Given the description of an element on the screen output the (x, y) to click on. 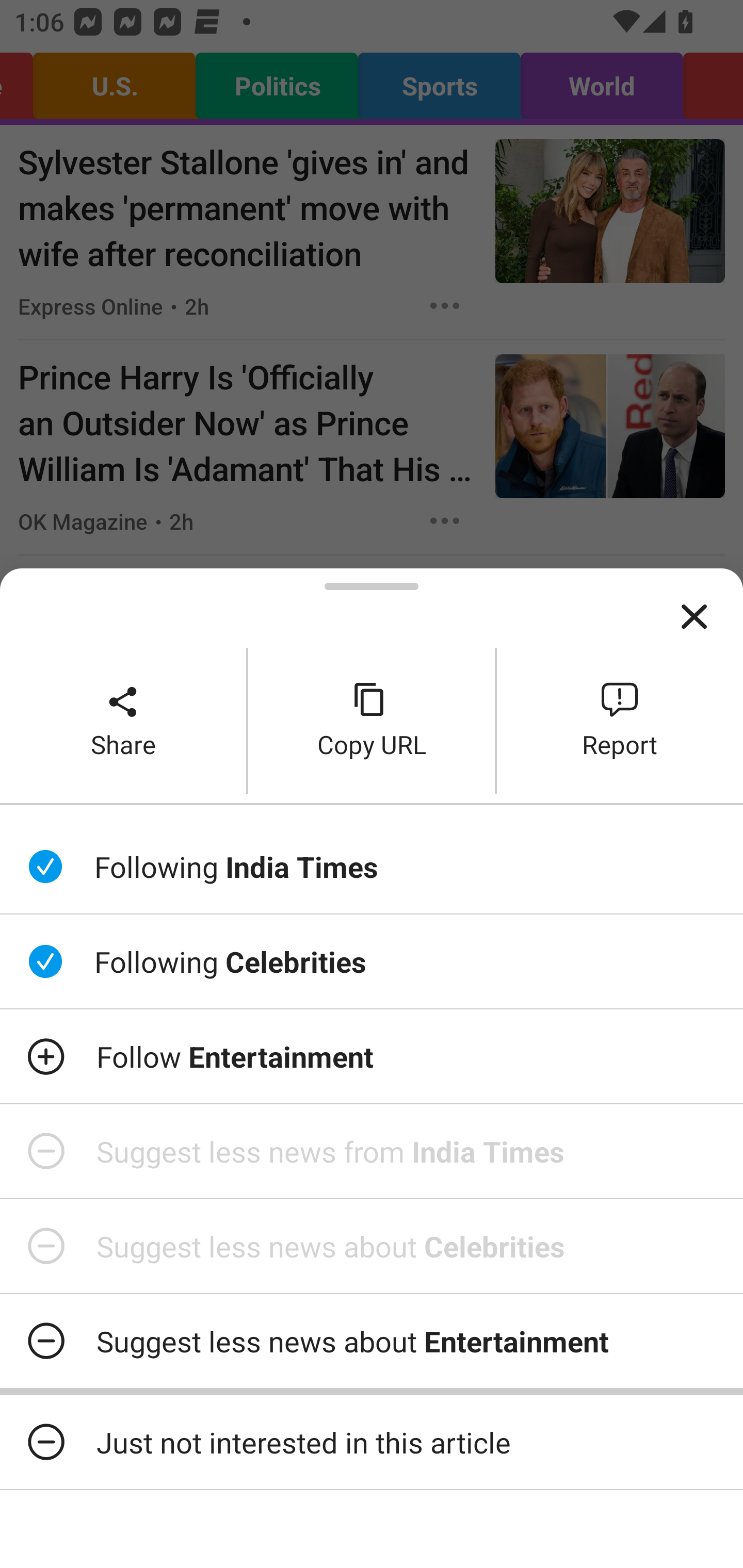
Close (694, 616)
Share (122, 720)
Copy URL (371, 720)
Report (620, 720)
Following India Times (371, 867)
Following Celebrities (371, 961)
Follow Entertainment (371, 1056)
Suggest less news from India Times (371, 1150)
Suggest less news about Celebrities (371, 1246)
Suggest less news about Entertainment (371, 1340)
Just not interested in this article (371, 1442)
